Given the description of an element on the screen output the (x, y) to click on. 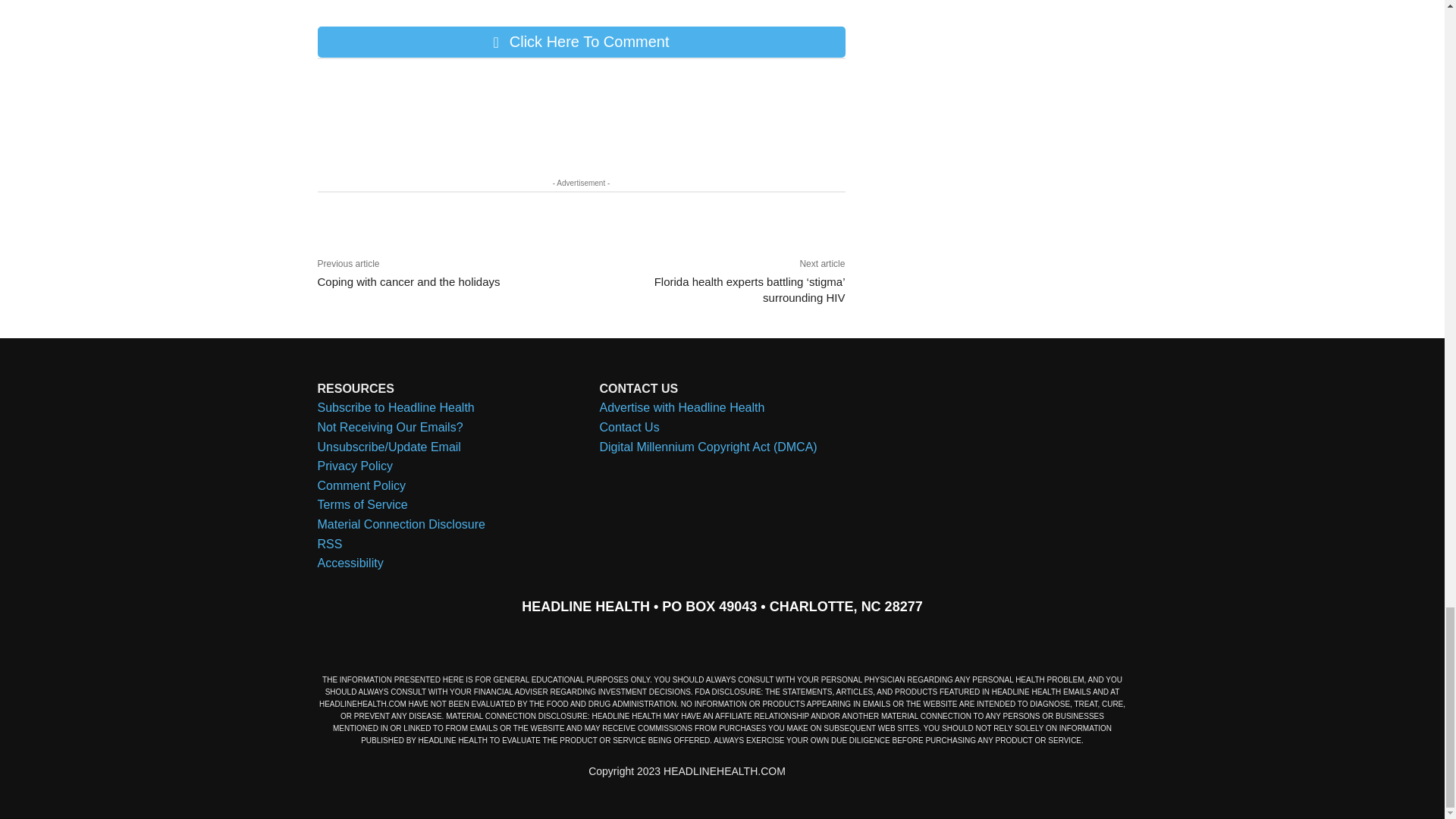
Click Here To Comment (580, 41)
